Given the description of an element on the screen output the (x, y) to click on. 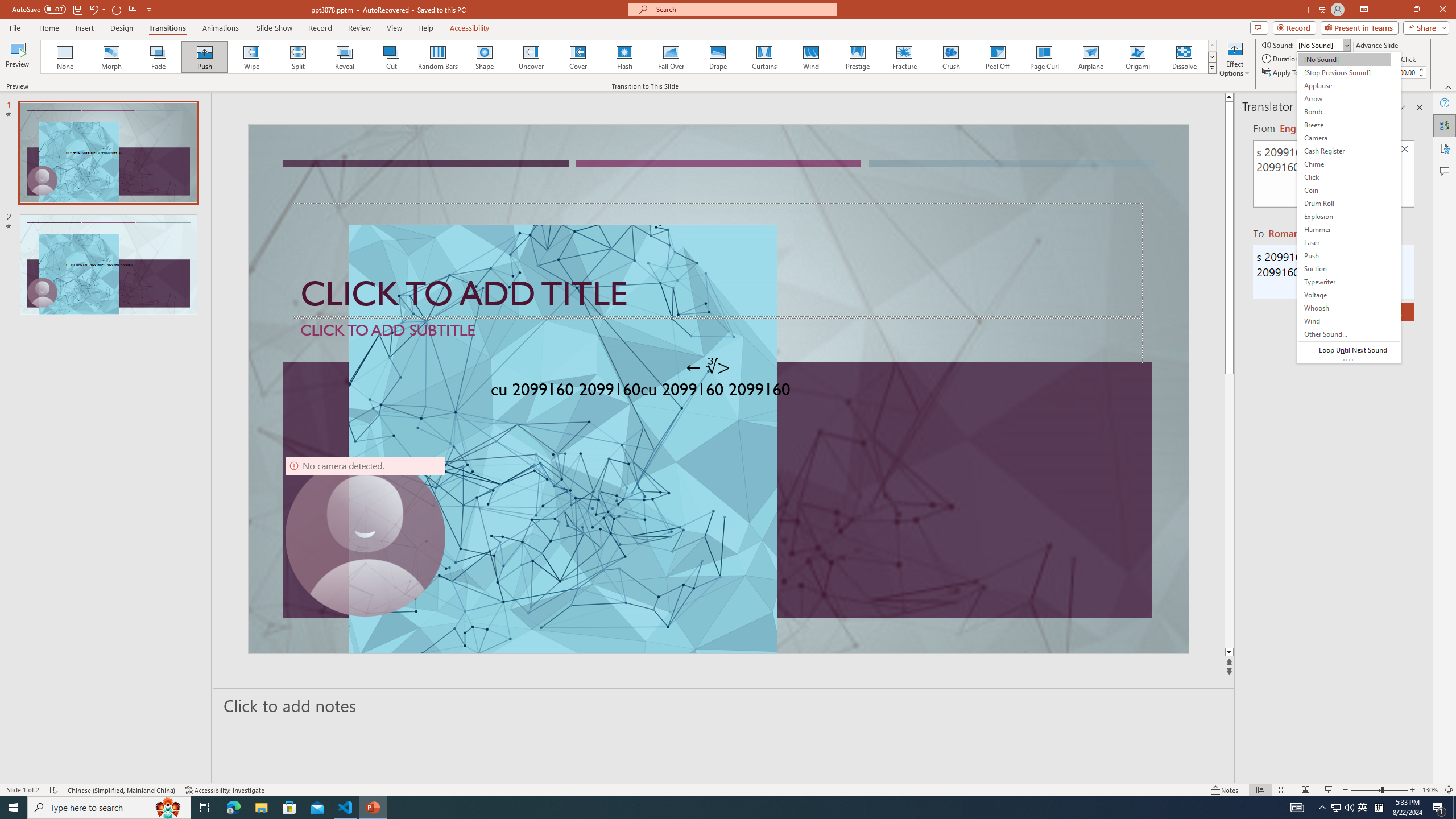
Reveal (344, 56)
Peel Off (997, 56)
An abstract genetic concept (718, 388)
TextBox 7 (708, 367)
Origami (1136, 56)
Subtitle TextBox (717, 339)
